Given the description of an element on the screen output the (x, y) to click on. 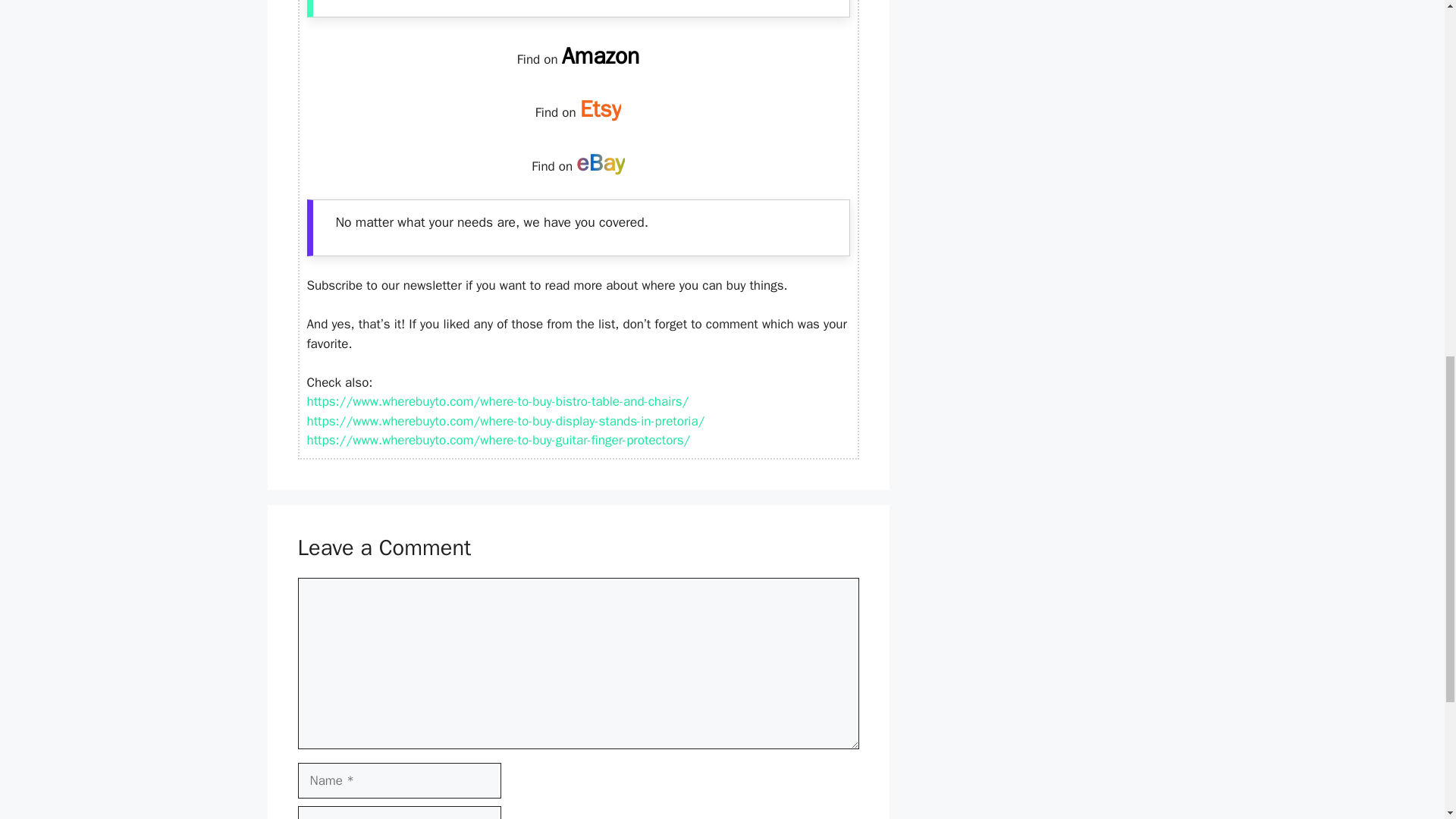
eBay (600, 162)
Amazon (600, 55)
Etsy (600, 109)
